Given the description of an element on the screen output the (x, y) to click on. 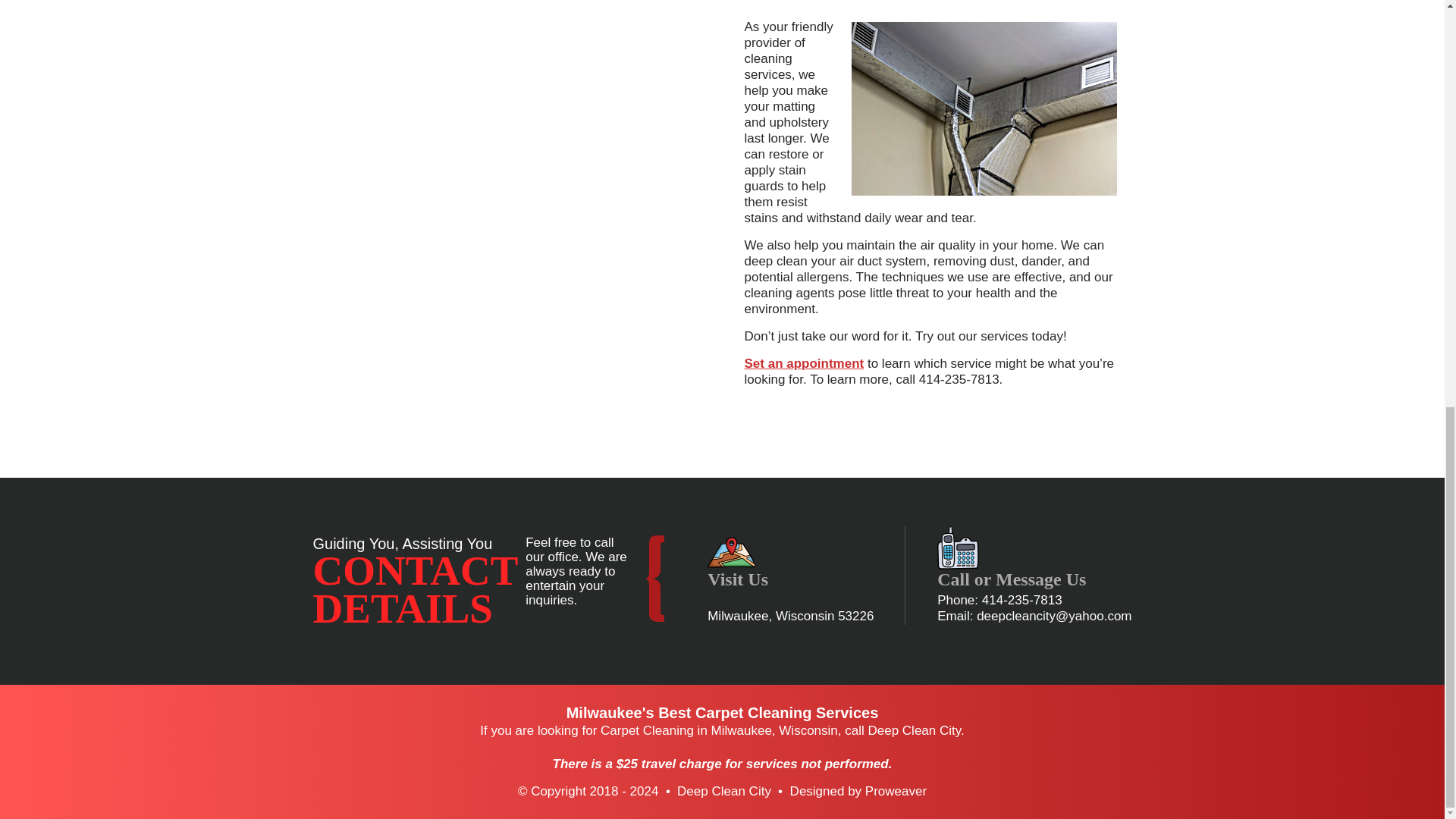
Proweaver (895, 790)
414-235-7813 (1021, 599)
Set an appointment (804, 363)
